Given the description of an element on the screen output the (x, y) to click on. 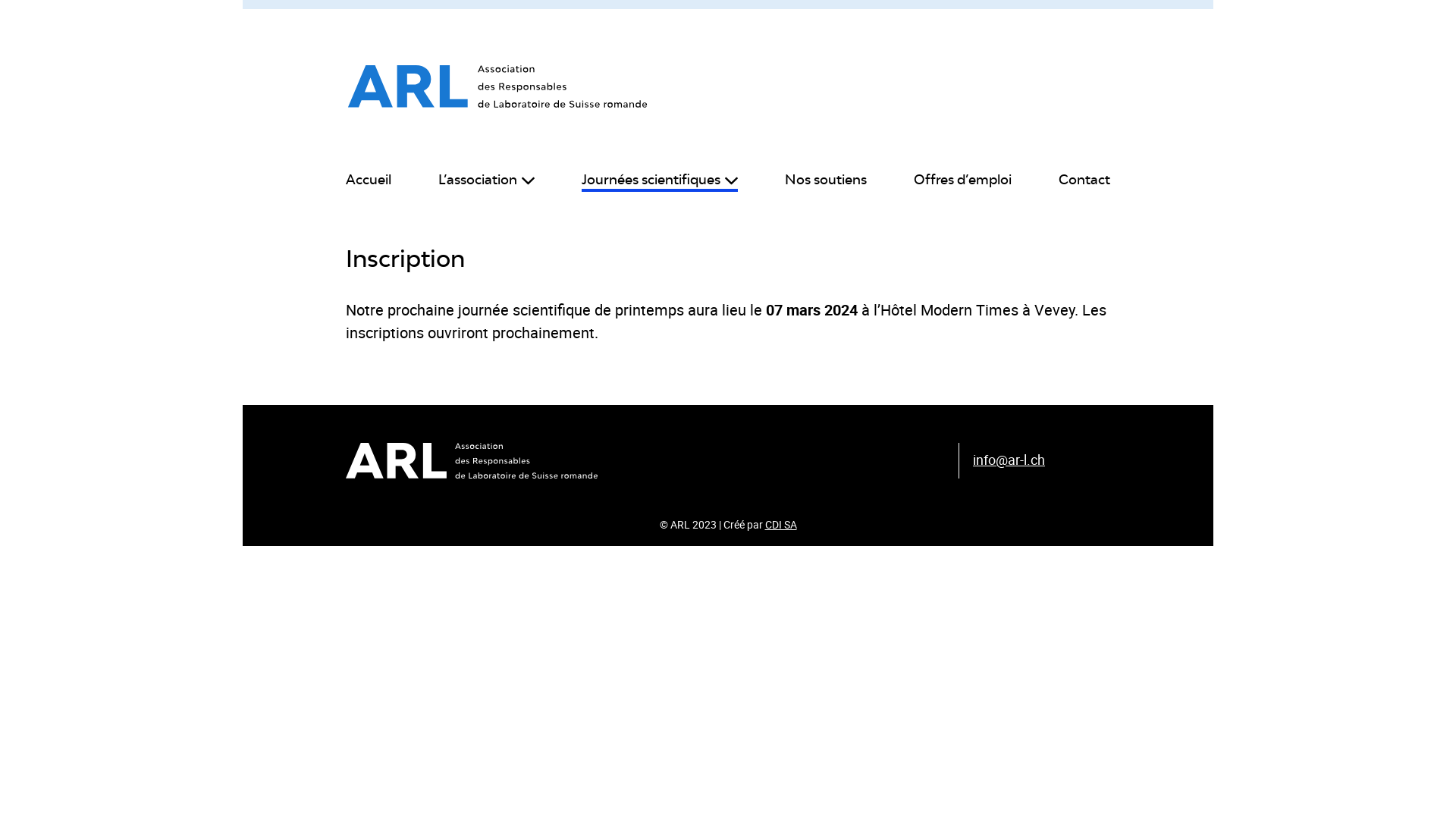
Nos soutiens Element type: text (825, 179)
info@ar-l.ch Element type: text (1008, 459)
Accueil Element type: text (368, 179)
ARL Element type: text (497, 86)
CDI SA Element type: text (780, 524)
Contact Element type: text (1084, 179)
